Given the description of an element on the screen output the (x, y) to click on. 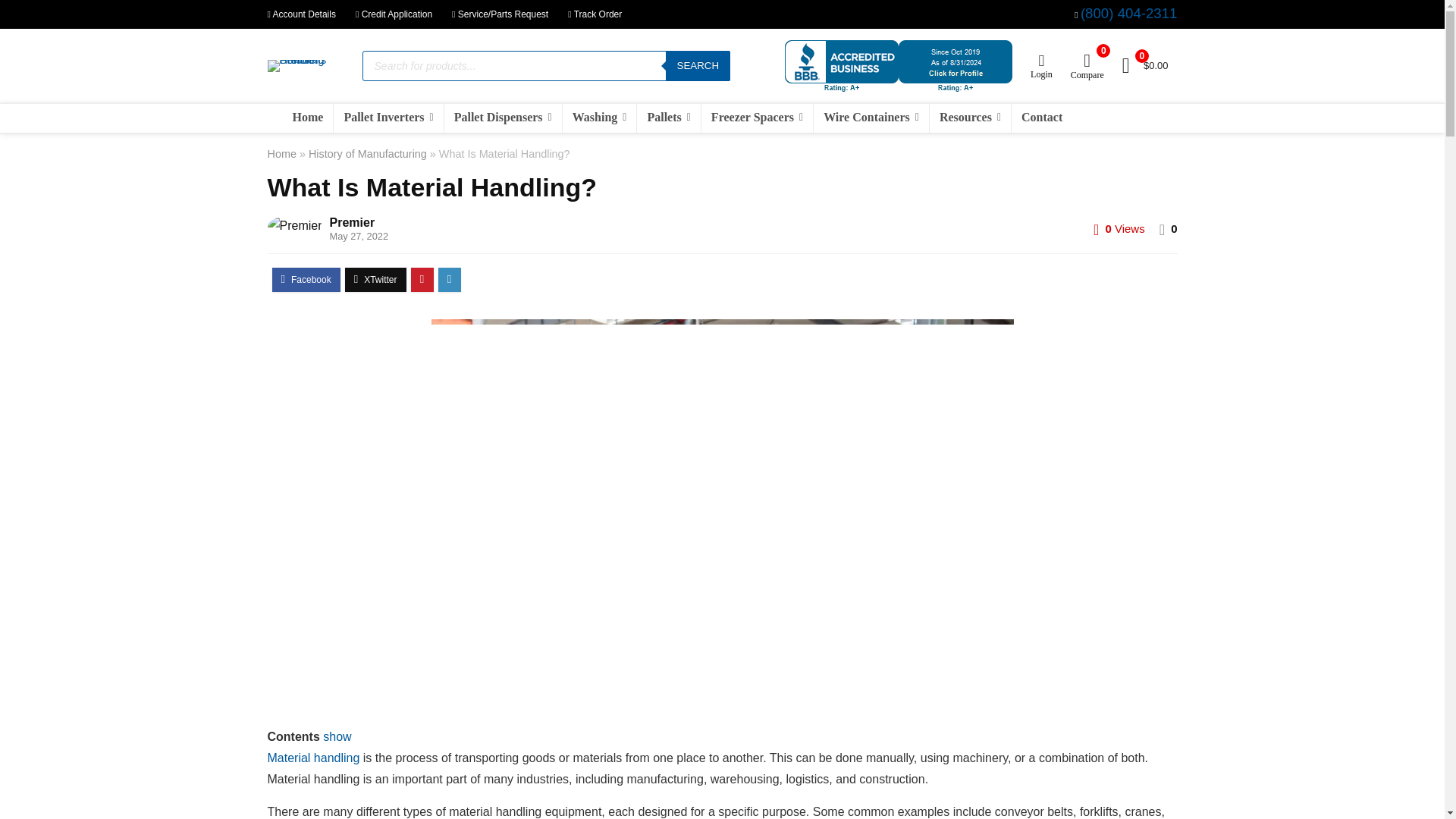
Home (307, 118)
Credit Application (393, 14)
Track Order (594, 14)
Pallet Inverters (387, 118)
SEARCH (697, 65)
Account Details (300, 14)
